Given the description of an element on the screen output the (x, y) to click on. 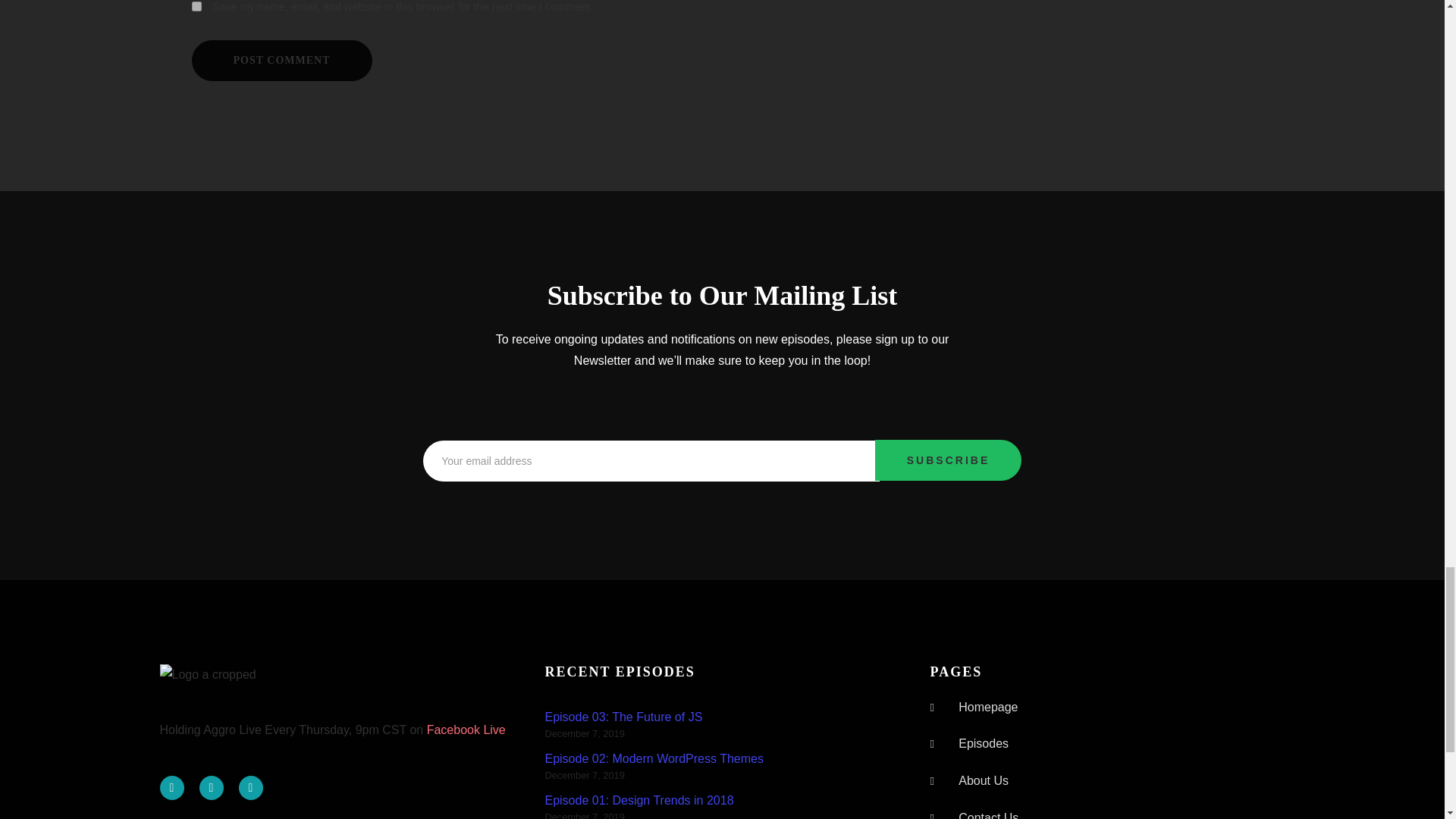
Logo a cropped (207, 675)
yes (195, 6)
Post Comment (280, 60)
Post Comment (280, 60)
Subscribe (948, 459)
